Given the description of an element on the screen output the (x, y) to click on. 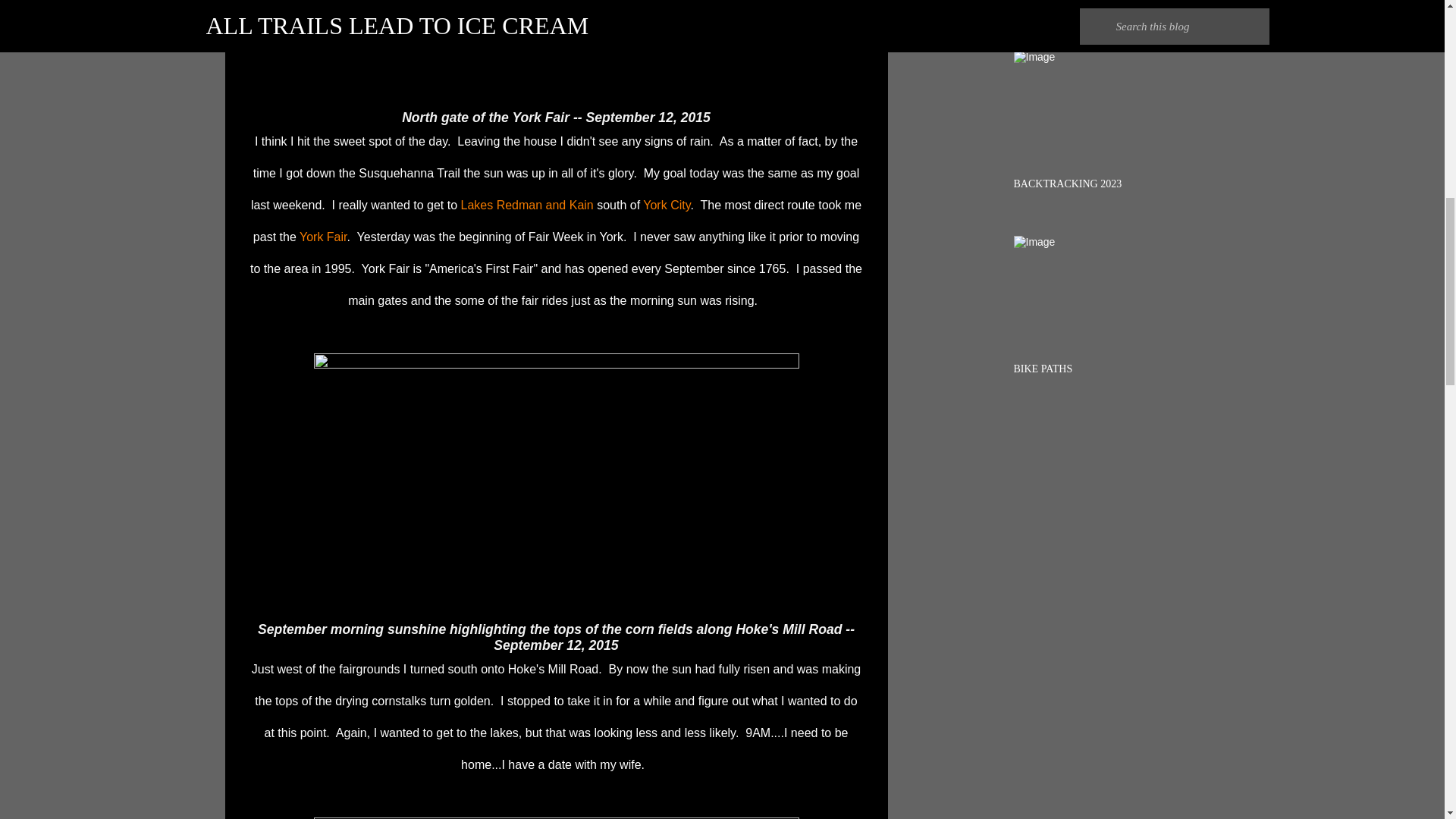
BIKE PATHS (1042, 368)
BACKTRACKING 2023 (1067, 183)
York Fair (323, 236)
BACKTRACKING 2022, PART THREE -- FOOT TRAFFIC (1105, 2)
York City (666, 205)
Lakes Redman and Kain (527, 205)
